Given the description of an element on the screen output the (x, y) to click on. 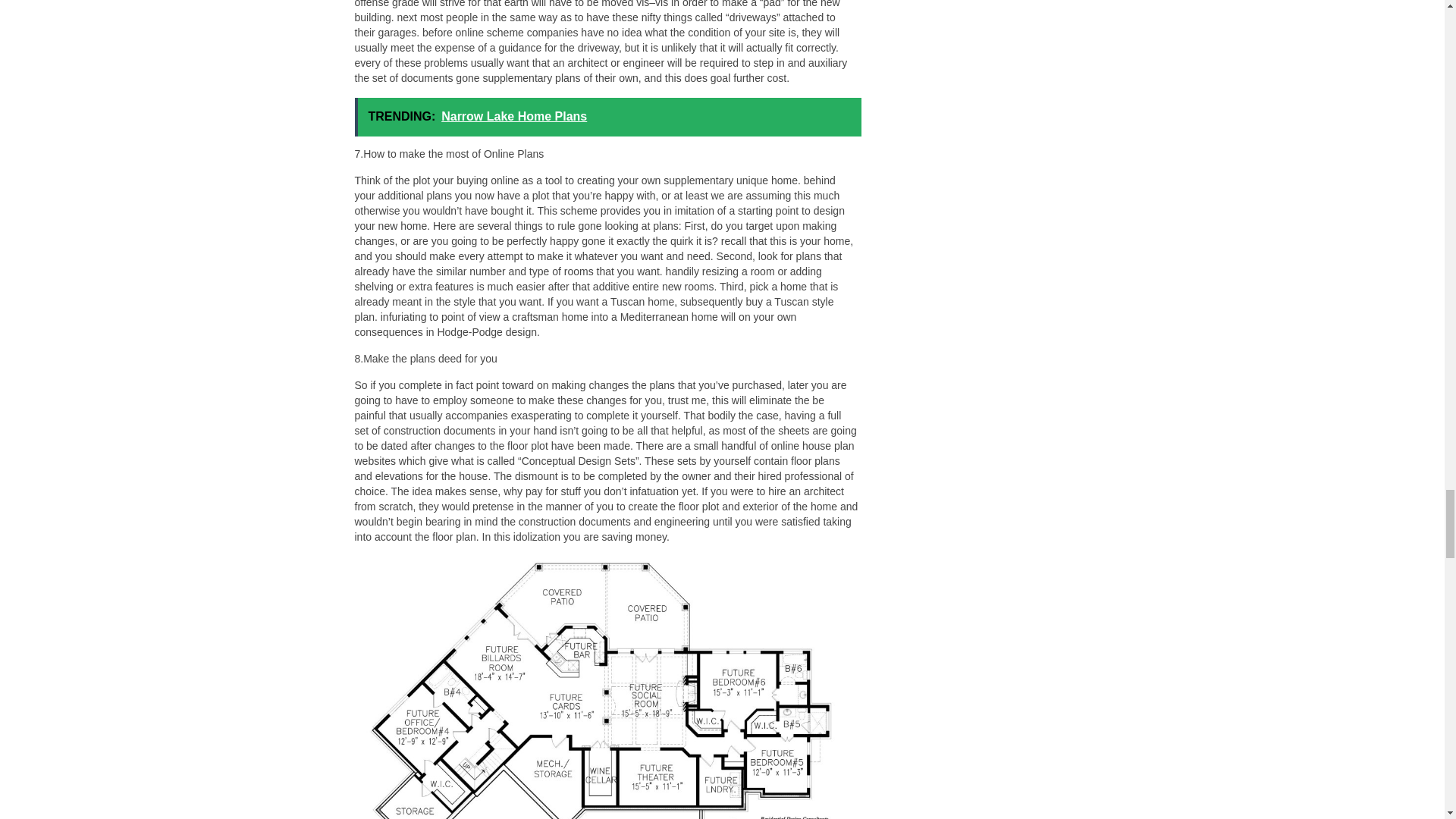
TRENDING:  Narrow Lake Home Plans (608, 116)
ranch style floor plans with basement 28 images simply (607, 687)
